Given the description of an element on the screen output the (x, y) to click on. 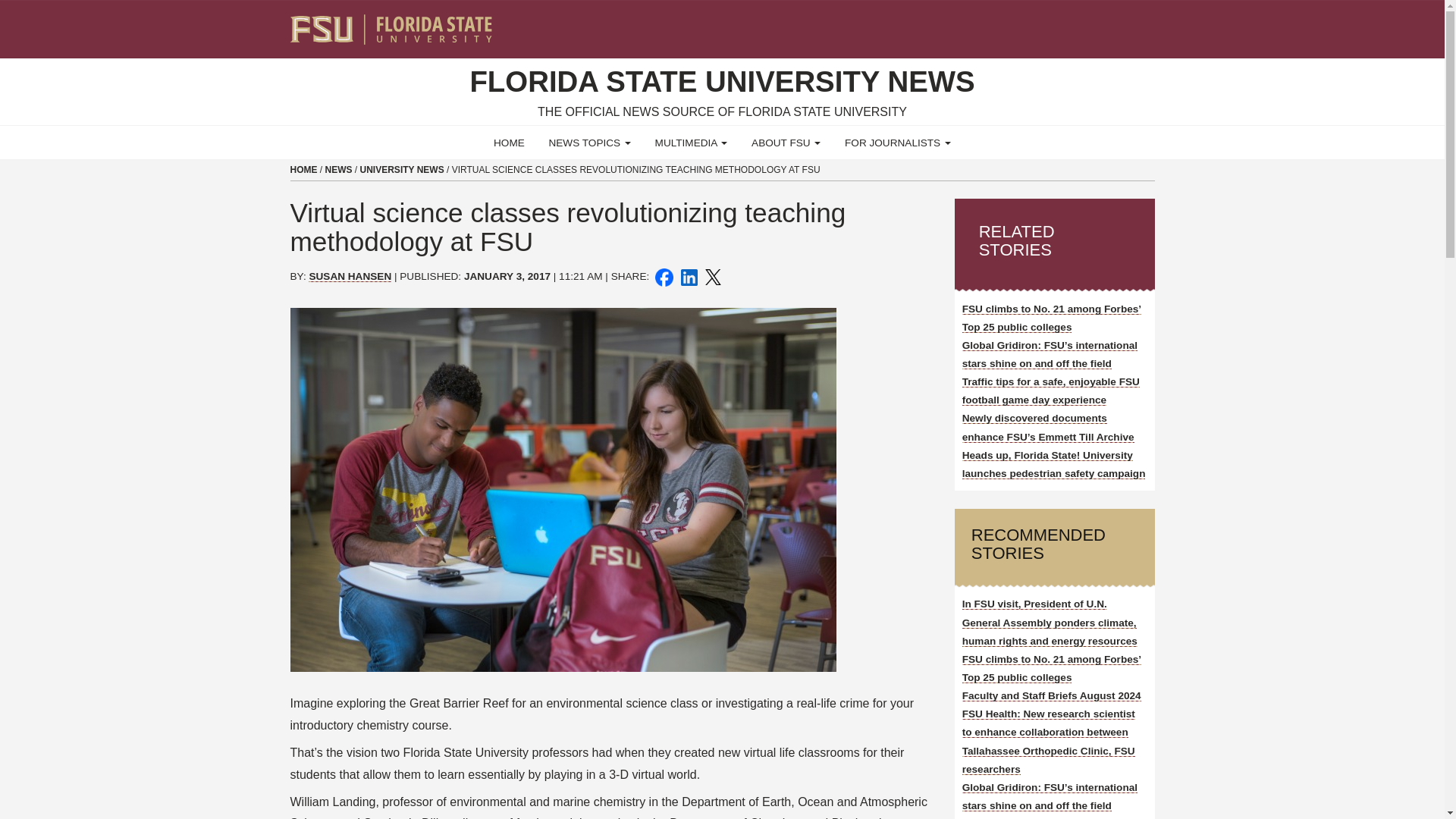
Skip to content (5, 5)
Navigation (1152, 23)
FSU Webmail (1112, 23)
